Given the description of an element on the screen output the (x, y) to click on. 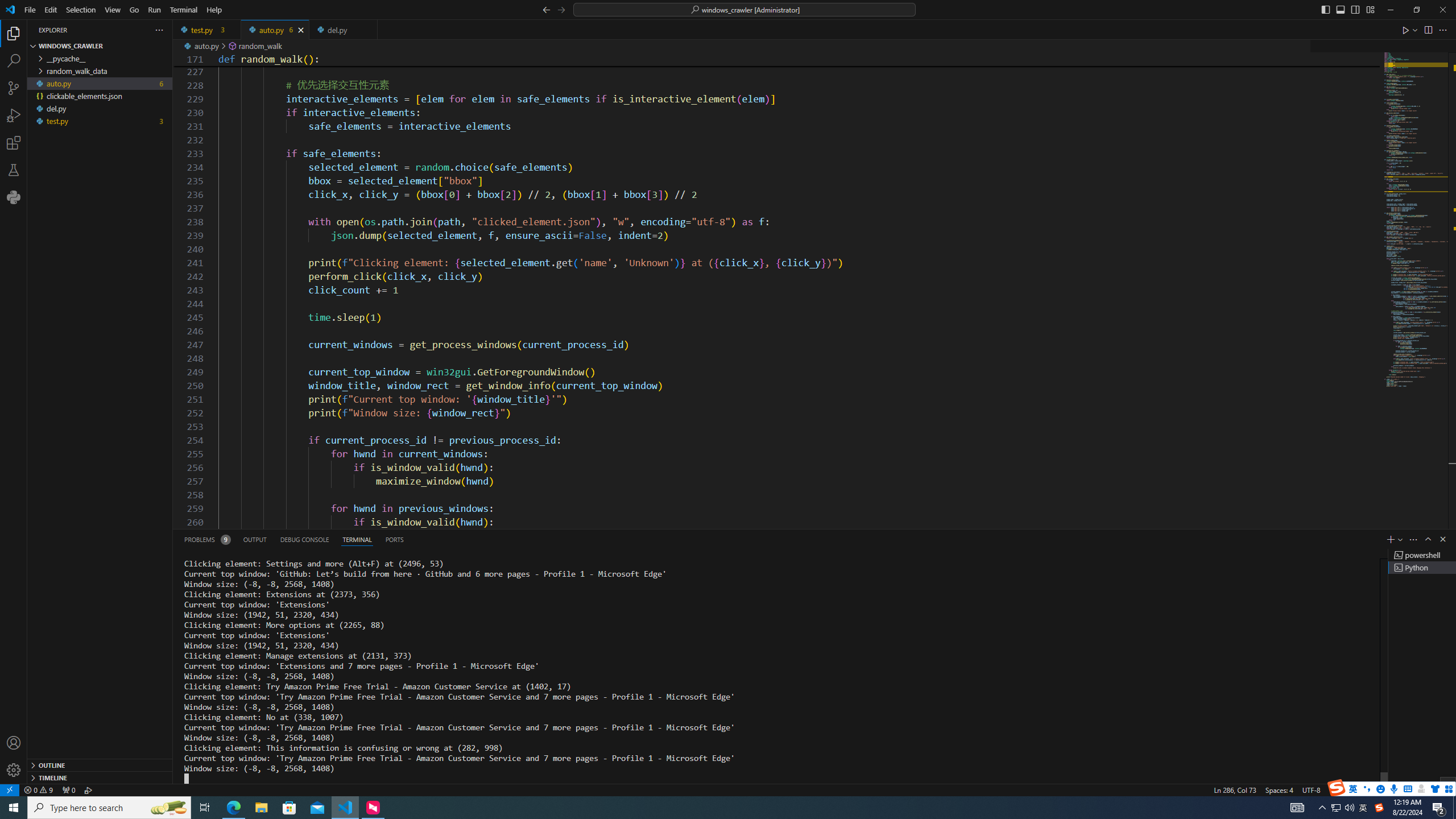
Go Forward (Alt+RightArrow) (560, 9)
test.py (207, 29)
Warnings: 9 (37, 789)
Go (134, 9)
del.py (342, 29)
Testing (13, 169)
Close (Ctrl+F4) (369, 29)
Views and More Actions... (1412, 539)
Run or Debug... (1414, 29)
Launch Profile... (1400, 539)
File (30, 9)
Explorer (Ctrl+Shift+E) (13, 33)
